Given the description of an element on the screen output the (x, y) to click on. 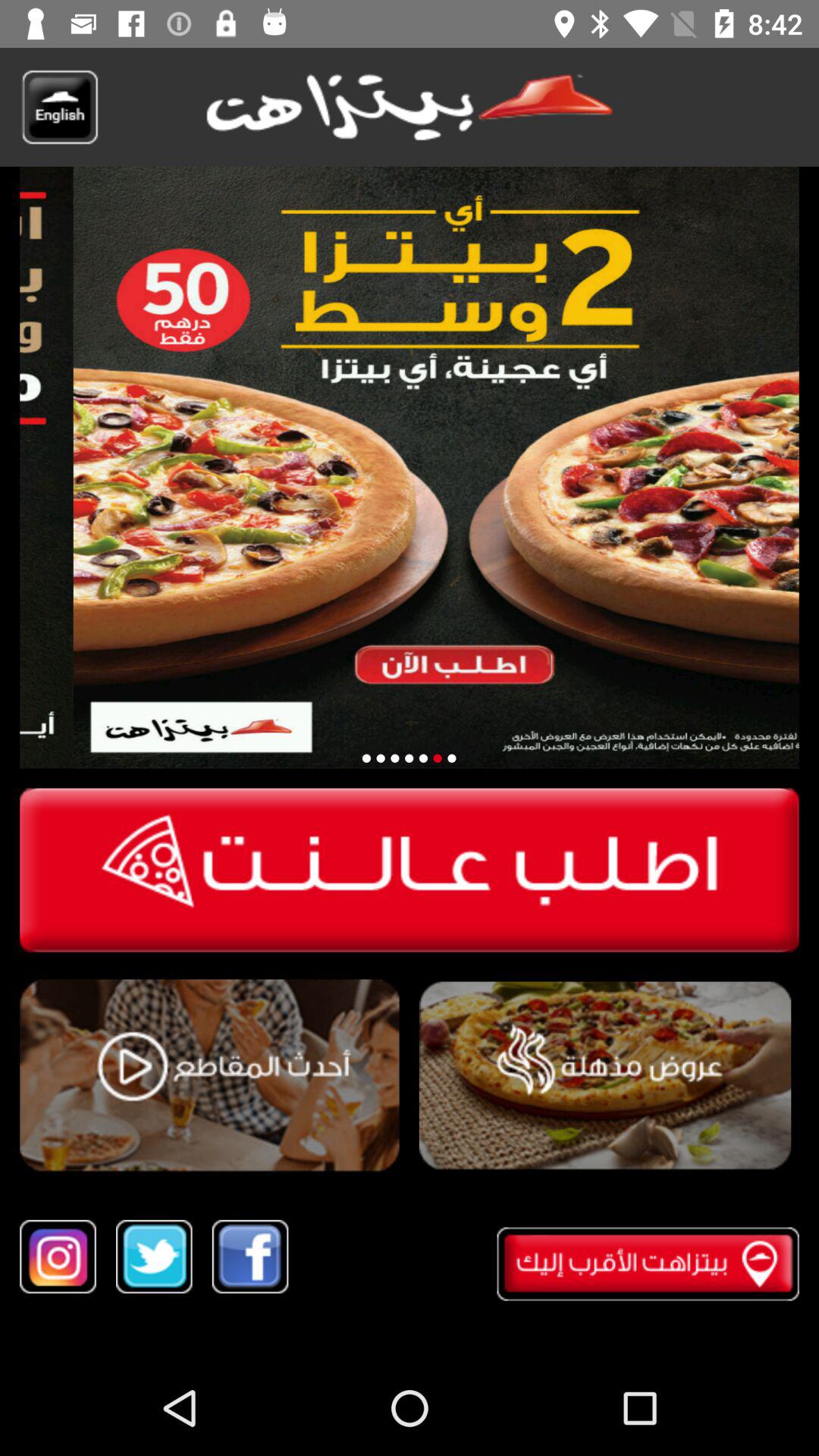
next image (408, 758)
